Given the description of an element on the screen output the (x, y) to click on. 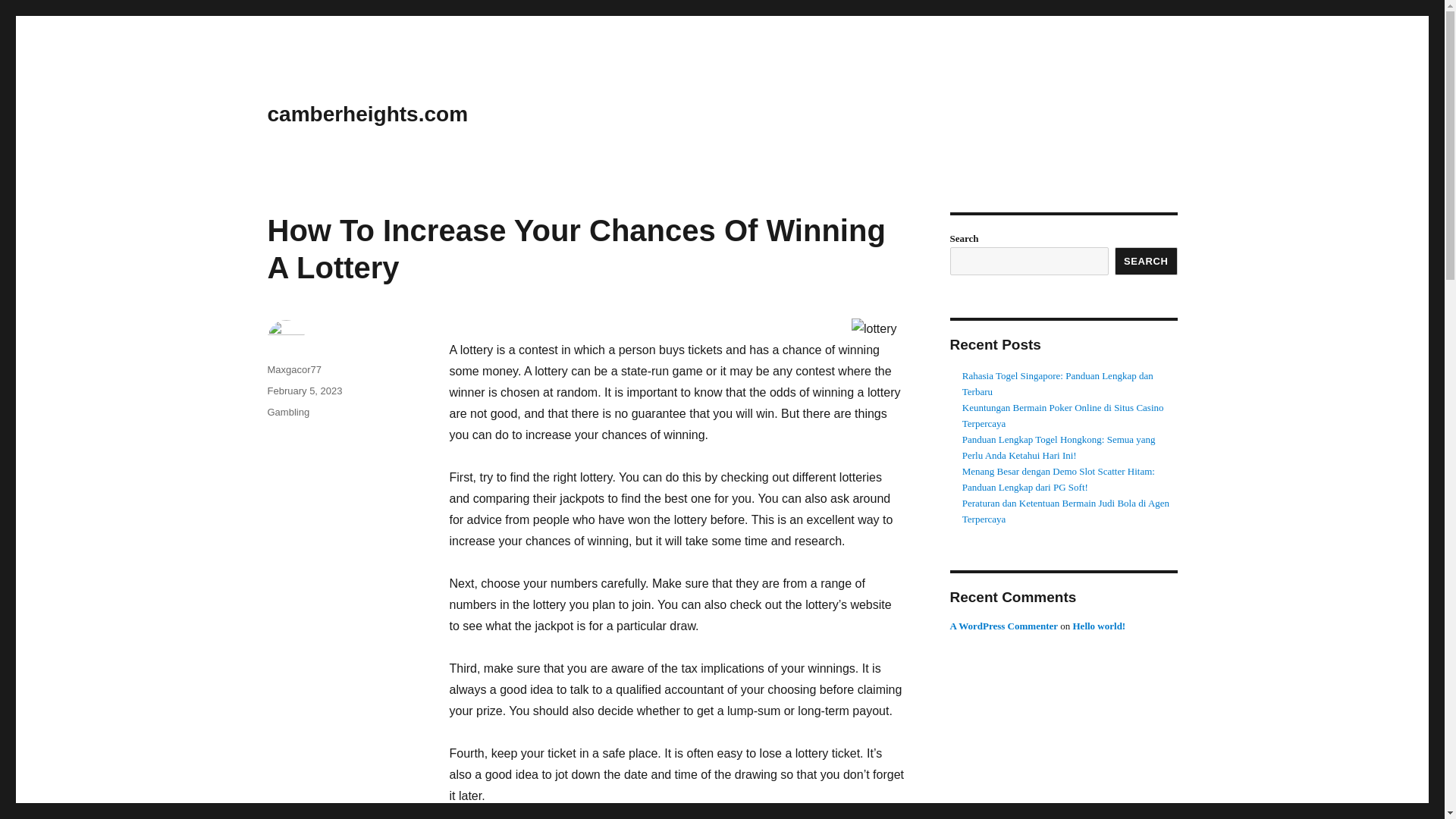
Keuntungan Bermain Poker Online di Situs Casino Terpercaya (1062, 415)
camberheights.com (366, 114)
SEARCH (1146, 261)
Maxgacor77 (293, 369)
Gambling (287, 411)
February 5, 2023 (304, 390)
Rahasia Togel Singapore: Panduan Lengkap dan Terbaru (1057, 383)
